Given the description of an element on the screen output the (x, y) to click on. 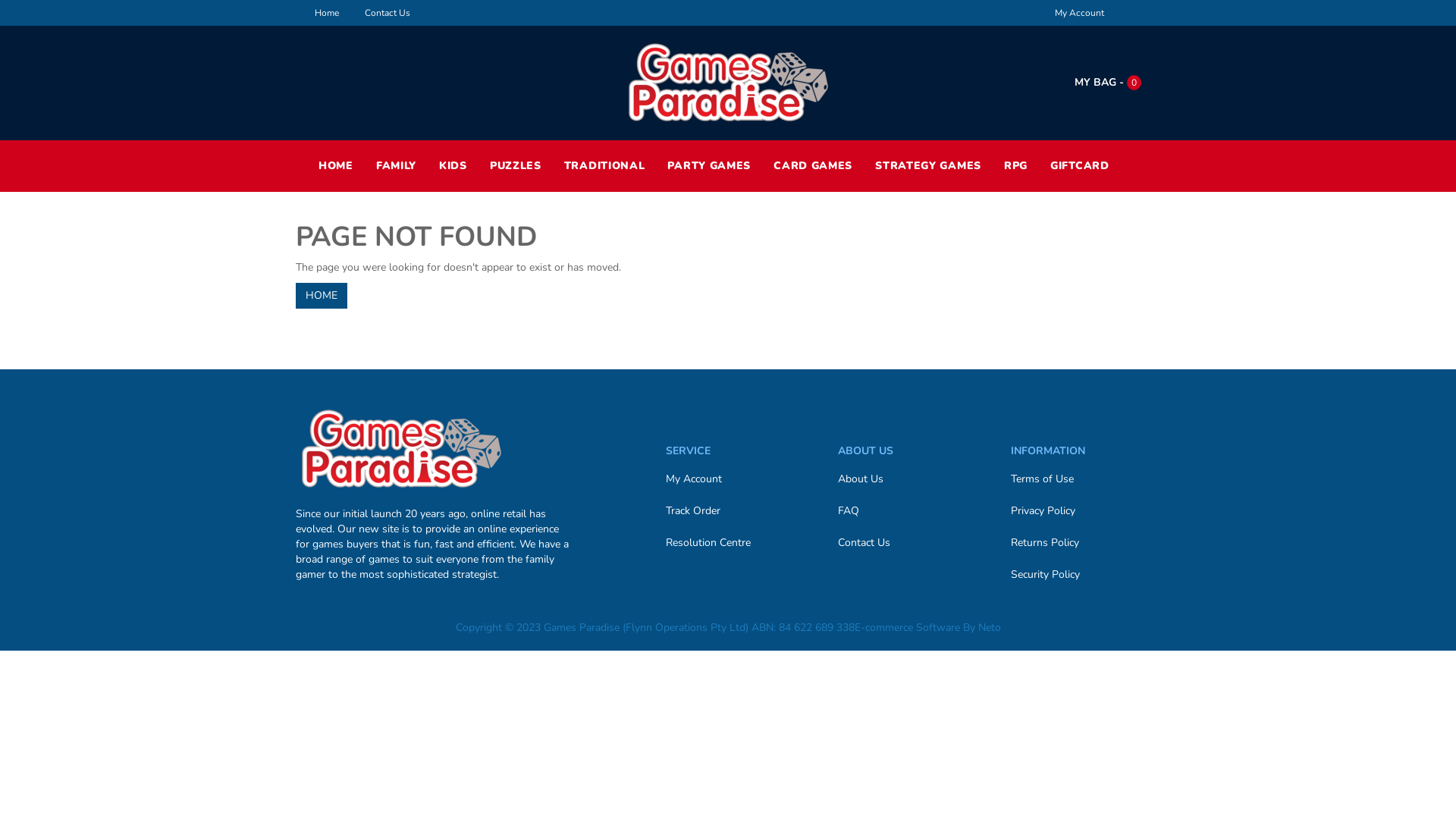
KIDS Element type: text (452, 165)
FAQ Element type: text (907, 510)
CARD GAMES Element type: text (812, 165)
About Us Element type: text (907, 479)
MY BAG - 0 Element type: text (1107, 82)
HOME Element type: text (321, 295)
PUZZLES Element type: text (515, 165)
FAMILY Element type: text (395, 165)
PARTY GAMES Element type: text (708, 165)
Returns Policy Element type: text (1080, 542)
RPG Element type: text (1015, 165)
Home Element type: text (326, 12)
Games Paradise (Flynn Operations Pty Ltd) Element type: hover (727, 82)
Games Paradise (Flynn Operations Pty Ltd) Element type: hover (400, 447)
E-commerce Software Element type: text (906, 627)
TRADITIONAL Element type: text (604, 165)
Privacy Policy Element type: text (1080, 510)
STRATEGY GAMES Element type: text (927, 165)
Security Policy Element type: text (1080, 574)
Track Order Element type: text (734, 510)
Resolution Centre Element type: text (734, 542)
HOME Element type: text (335, 165)
My Account Element type: text (734, 479)
Contact Us Element type: text (907, 542)
Contact Us Element type: text (387, 12)
GIFTCARD Element type: text (1079, 165)
My Account Element type: text (1079, 12)
Terms of Use Element type: text (1080, 479)
